Given the description of an element on the screen output the (x, y) to click on. 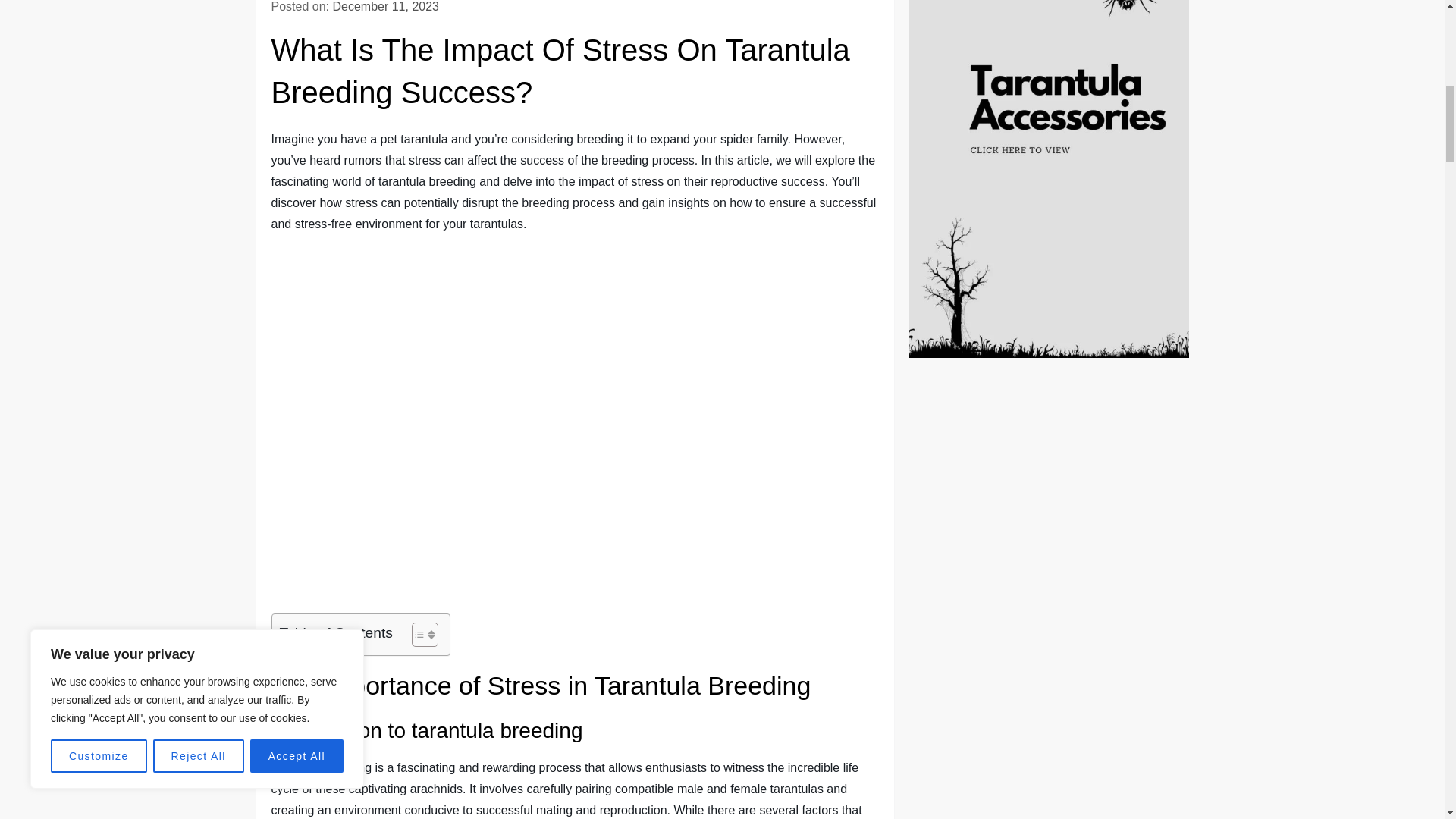
December 11, 2023 (385, 6)
